Given the description of an element on the screen output the (x, y) to click on. 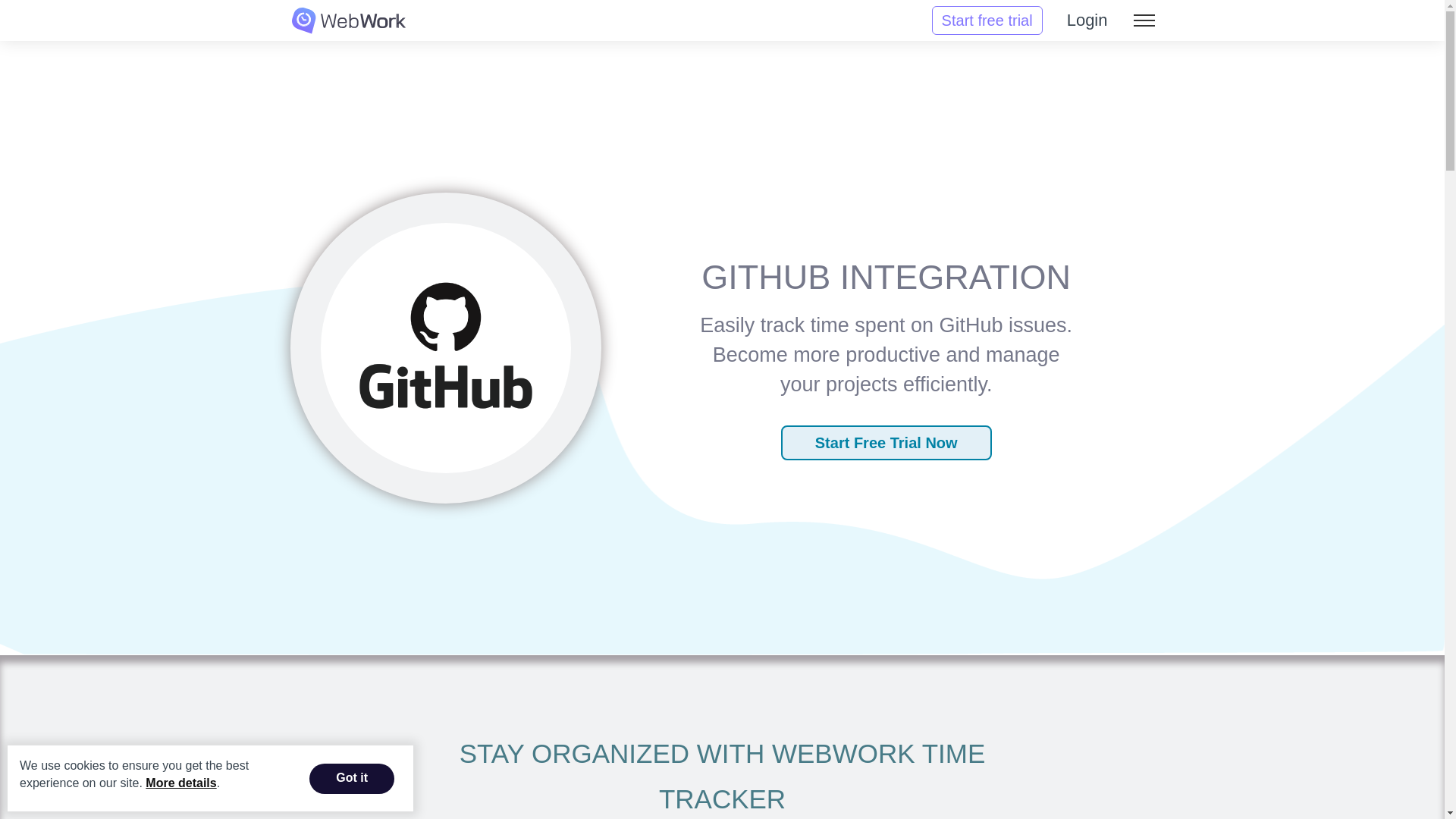
Start free trial (986, 20)
GitHub integration (445, 344)
More details (180, 782)
Got it (351, 778)
Login (1087, 19)
Start Free Trial Now (885, 442)
